Given the description of an element on the screen output the (x, y) to click on. 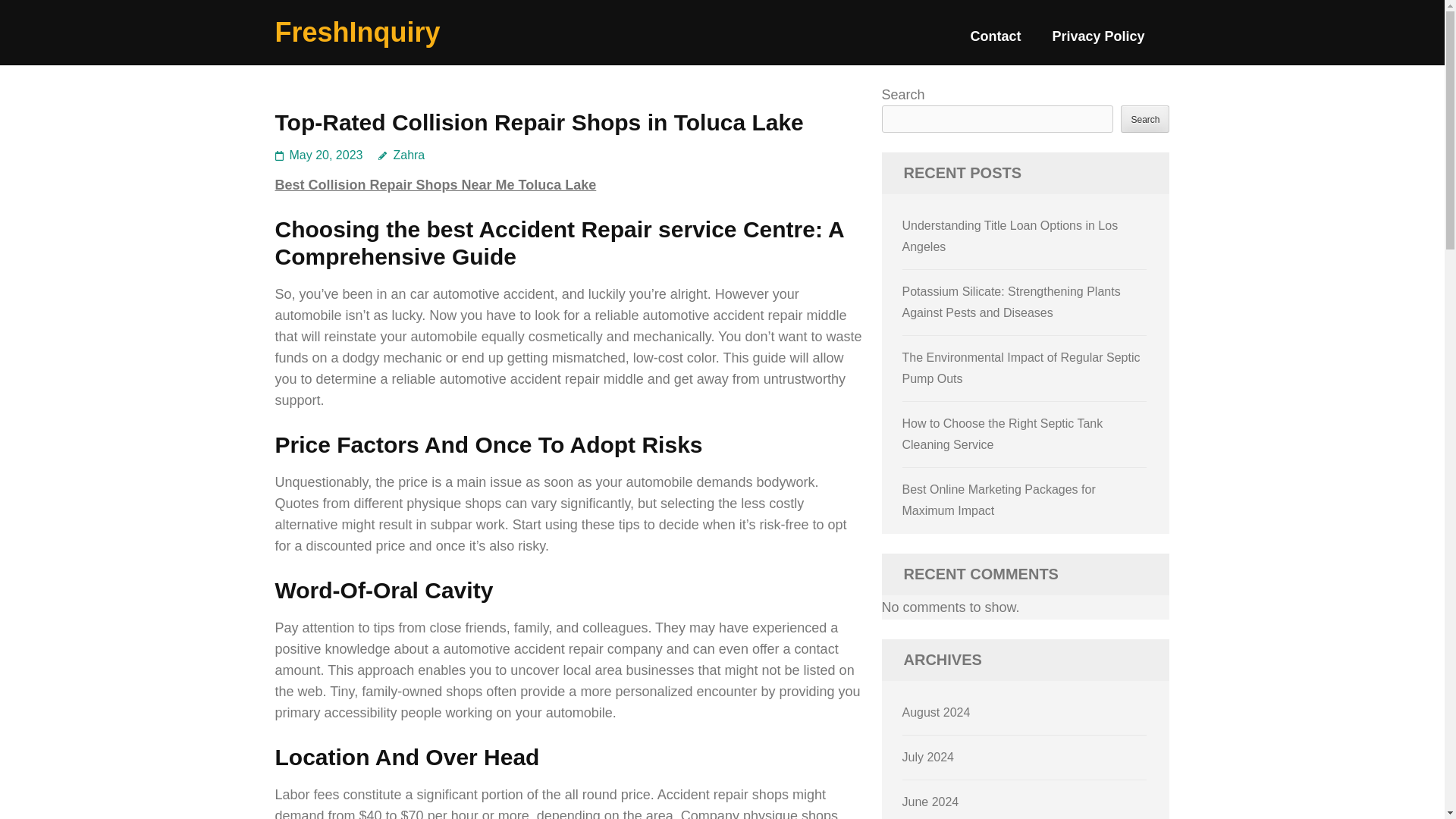
Understanding Title Loan Options in Los Angeles (1010, 236)
Zahra (401, 154)
August 2024 (936, 712)
Best Collision Repair Shops Near Me Toluca Lake (435, 184)
June 2024 (930, 801)
FreshInquiry (357, 31)
July 2024 (928, 757)
Contact (994, 42)
Search (1145, 118)
Best Online Marketing Packages for Maximum Impact (999, 499)
